Given the description of an element on the screen output the (x, y) to click on. 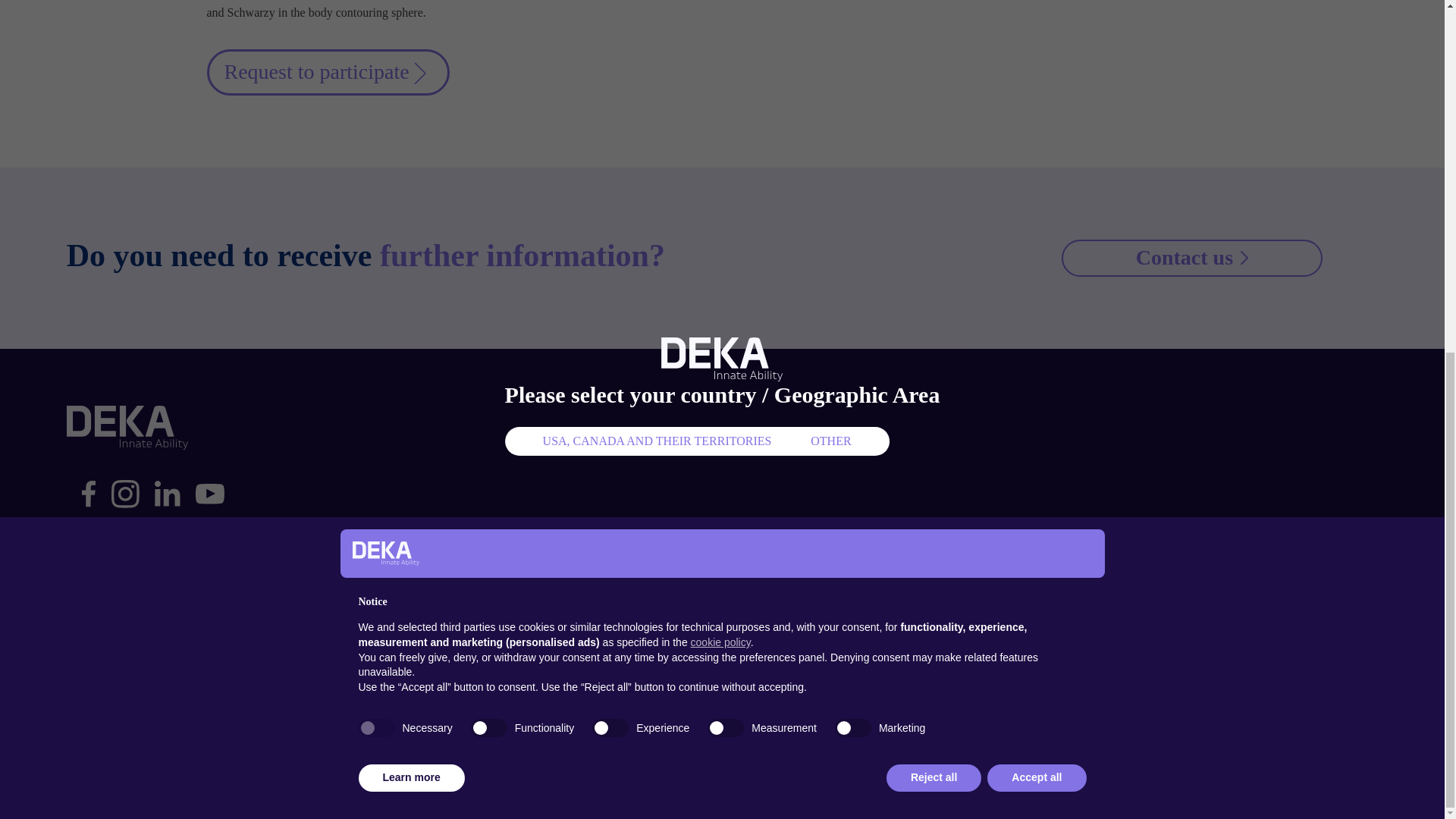
false (852, 114)
false (725, 114)
true (376, 114)
false (610, 114)
false (488, 114)
